Given the description of an element on the screen output the (x, y) to click on. 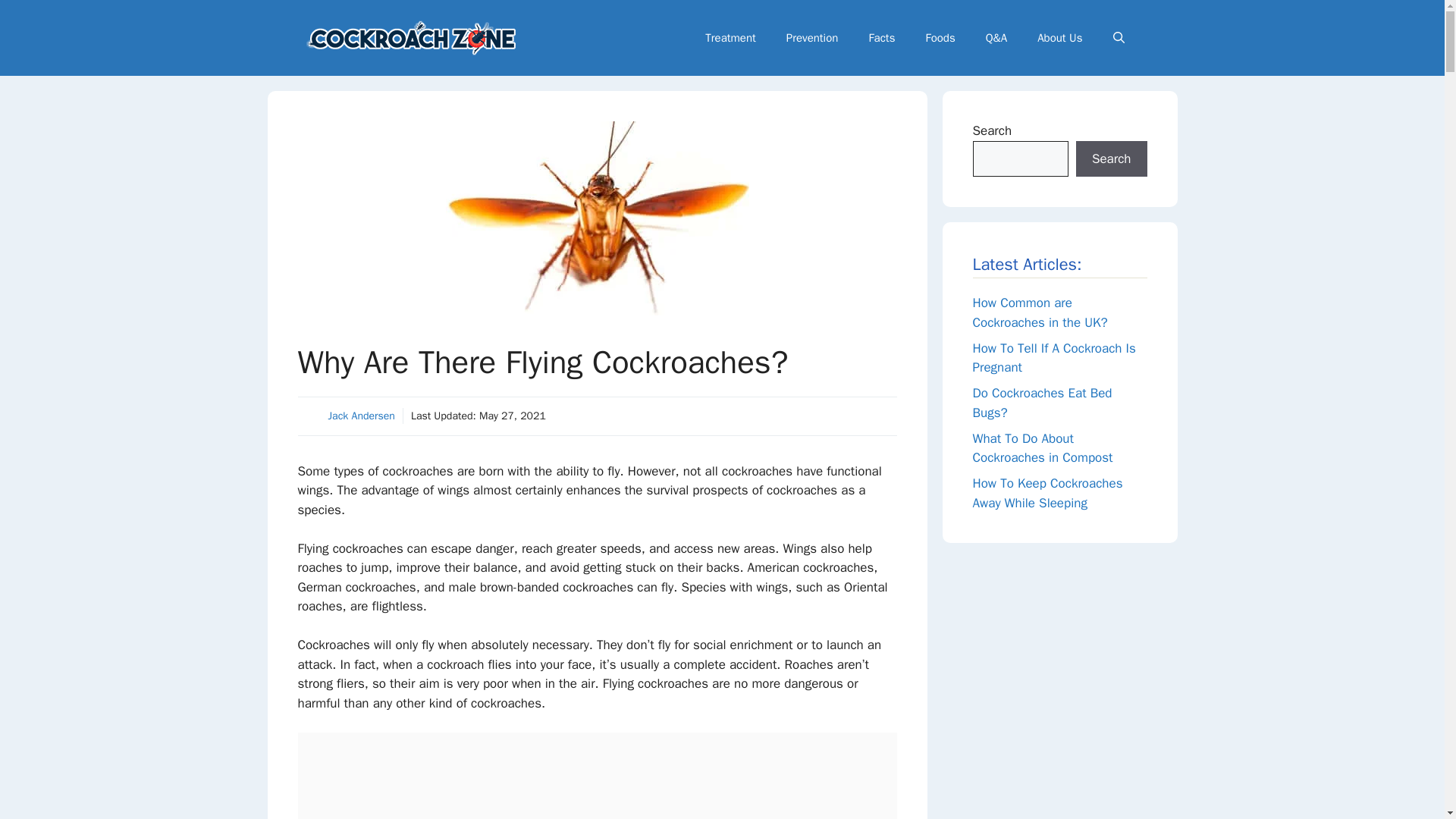
About Us (1059, 37)
Prevention (812, 37)
Jack Andersen (360, 415)
Treatment (730, 37)
Foods (939, 37)
Facts (881, 37)
